Given the description of an element on the screen output the (x, y) to click on. 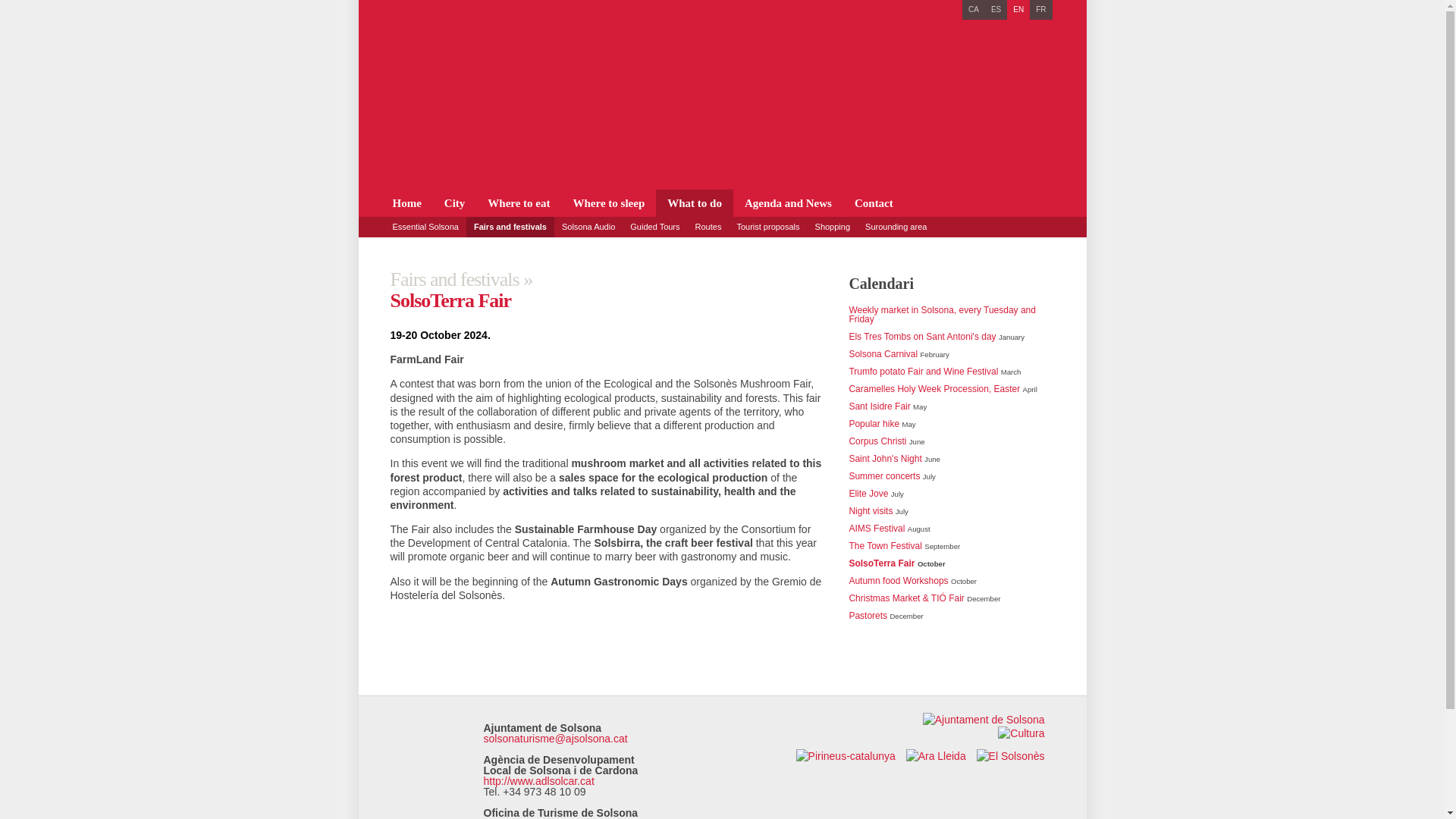
The Town Festival (884, 545)
Summer concerts (884, 475)
Fairs and festivals (510, 225)
Popular hike (873, 423)
Routes (708, 225)
Els Tres Tombs on Sant Antoni's day (921, 336)
Trumfo potato Fair and Wine Festival (922, 371)
Elite Jove (868, 493)
Contact (873, 203)
EN (1018, 8)
